Given the description of an element on the screen output the (x, y) to click on. 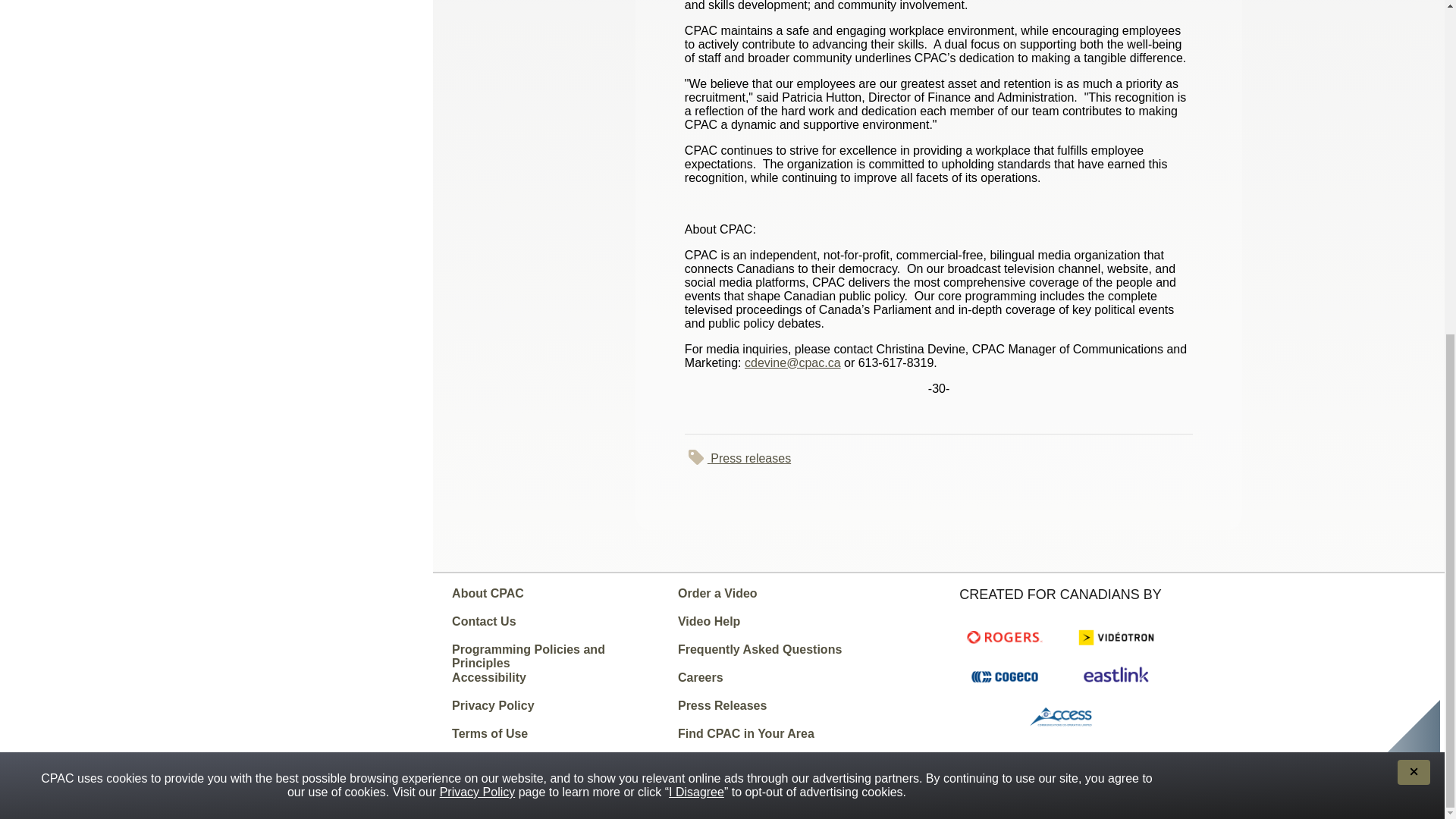
Contact Us (557, 628)
Order a Video (783, 600)
About CPAC (557, 600)
Press releases (938, 457)
